Given the description of an element on the screen output the (x, y) to click on. 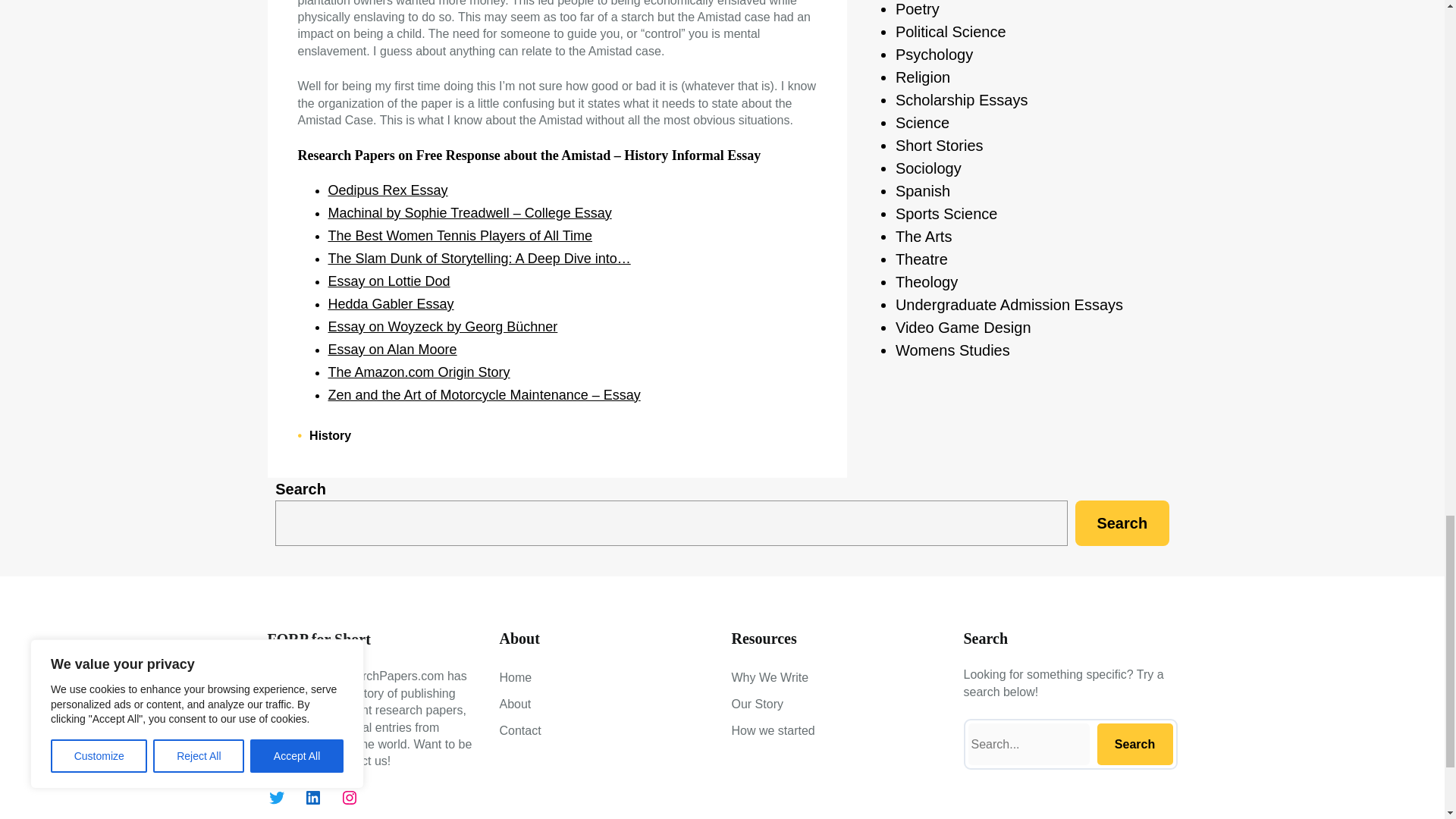
Oedipus Rex Essay (386, 190)
Essay on Alan Moore (392, 349)
Hedda Gabler Essay (389, 304)
Essay on Lottie Dod (388, 281)
The Amazon.com Origin Story (418, 372)
The Best Women Tennis Players of All Time (459, 235)
History (329, 435)
